Given the description of an element on the screen output the (x, y) to click on. 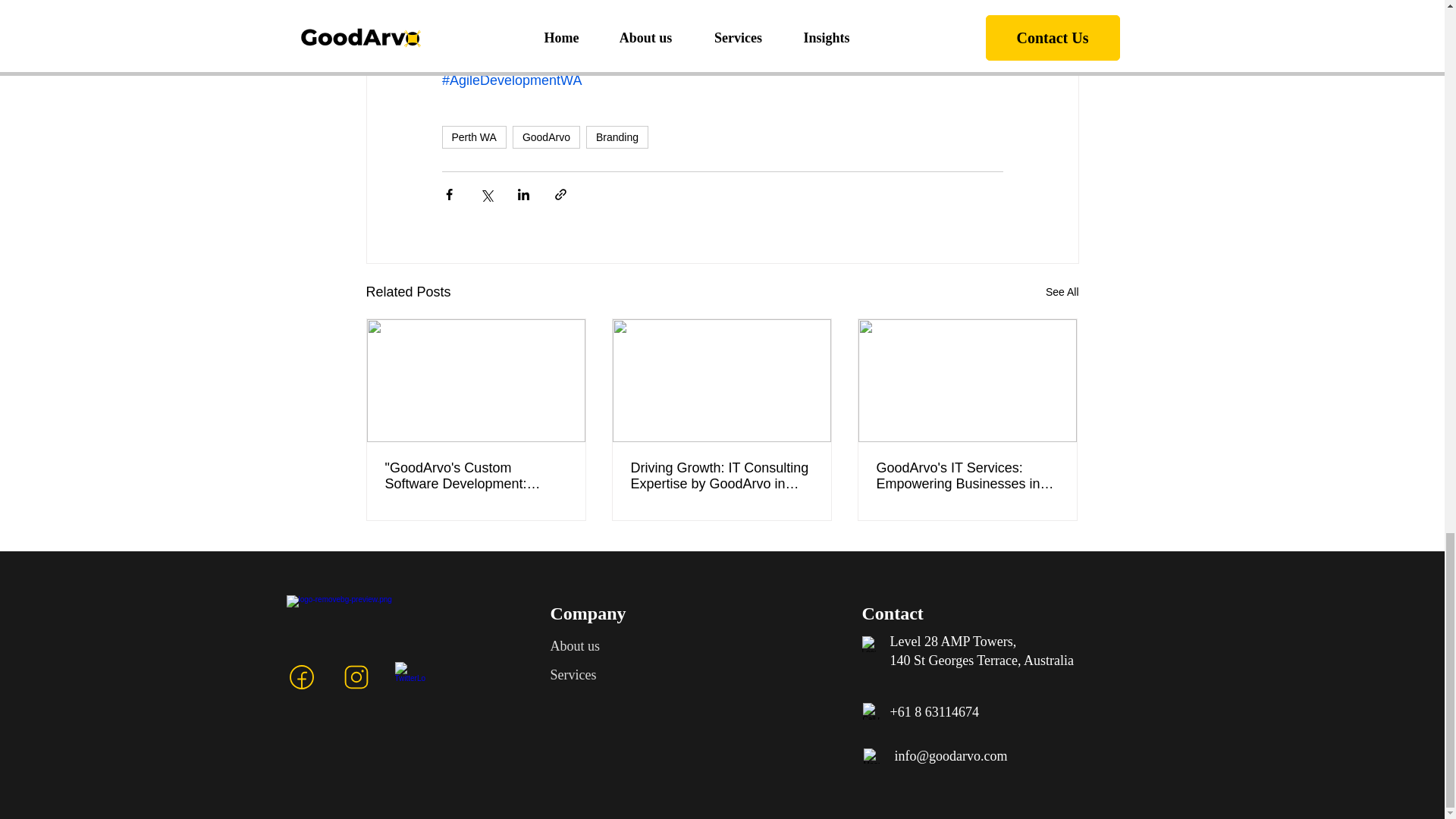
See All (1061, 292)
Services (573, 674)
Perth WA (473, 137)
Driving Growth: IT Consulting Expertise by GoodArvo in Perth (721, 476)
GoodArvo (545, 137)
Branding (616, 137)
About us (574, 645)
